Given the description of an element on the screen output the (x, y) to click on. 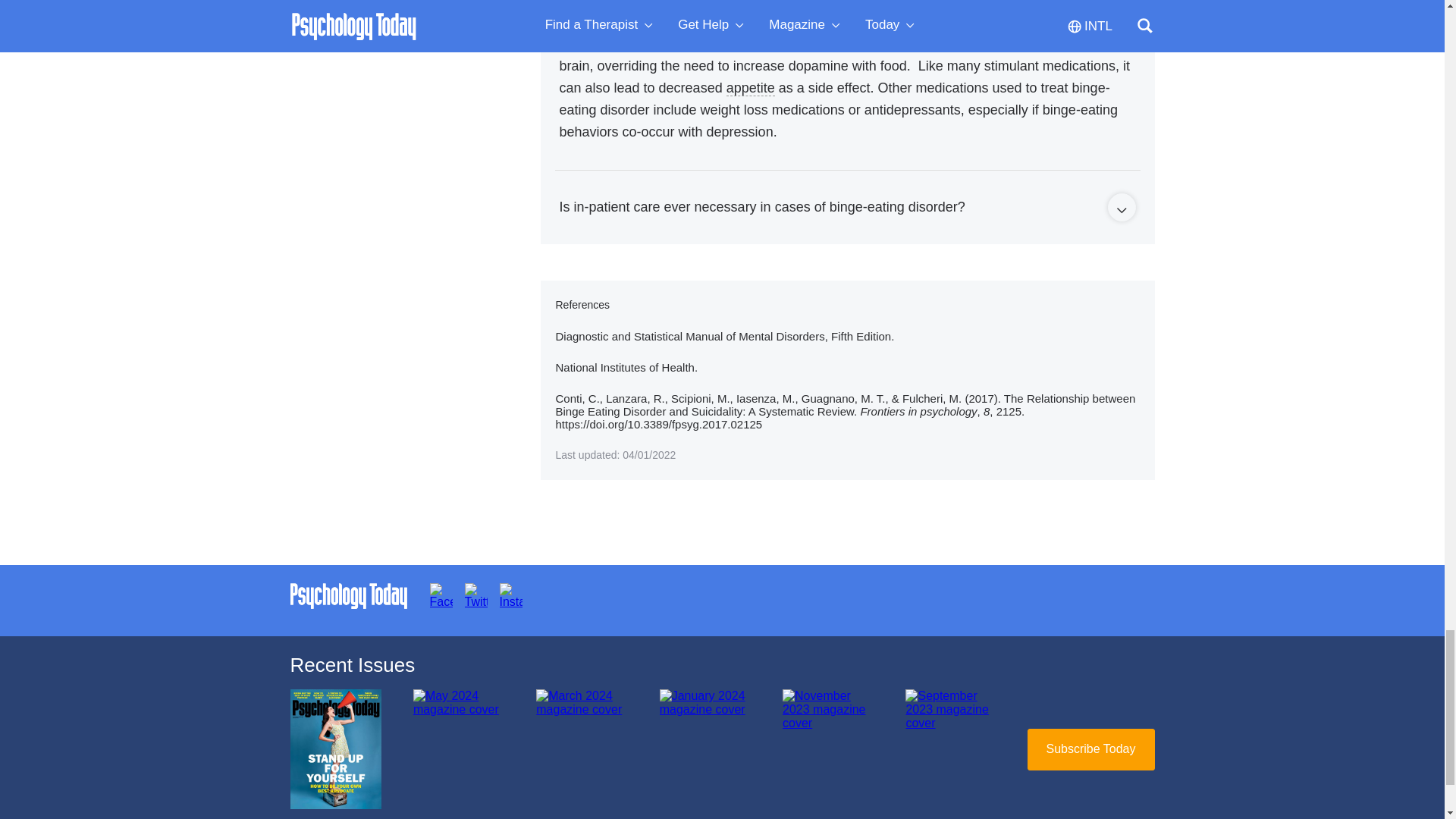
Created with Sketch. (1120, 210)
